Given the description of an element on the screen output the (x, y) to click on. 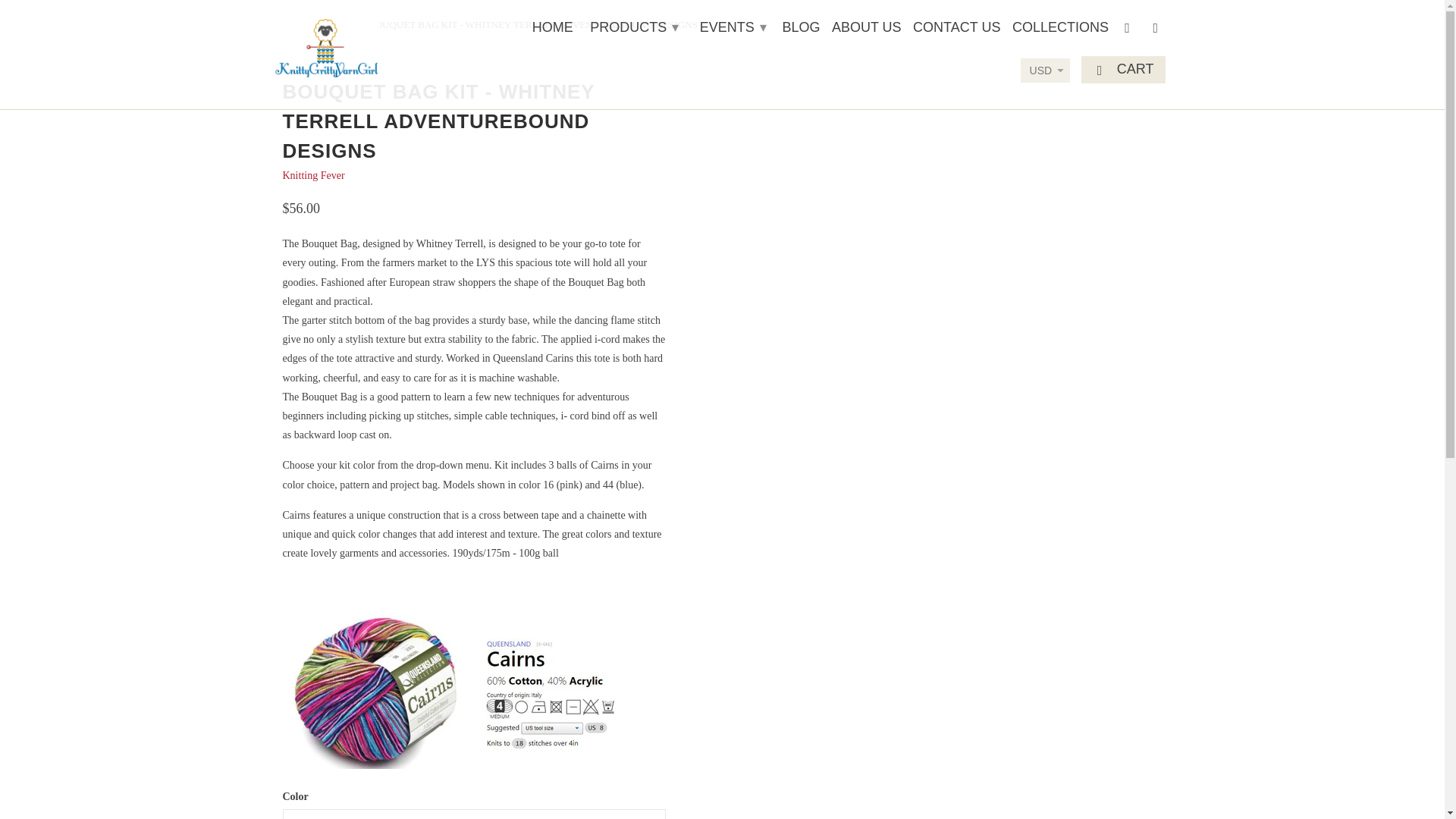
HOME (552, 29)
Knitty Gritty Yarn Girl (286, 24)
BLOG (800, 29)
Search (1157, 29)
Products (332, 24)
My Account  (1128, 29)
Knitty Gritty Yarn Girl (326, 43)
